Given the description of an element on the screen output the (x, y) to click on. 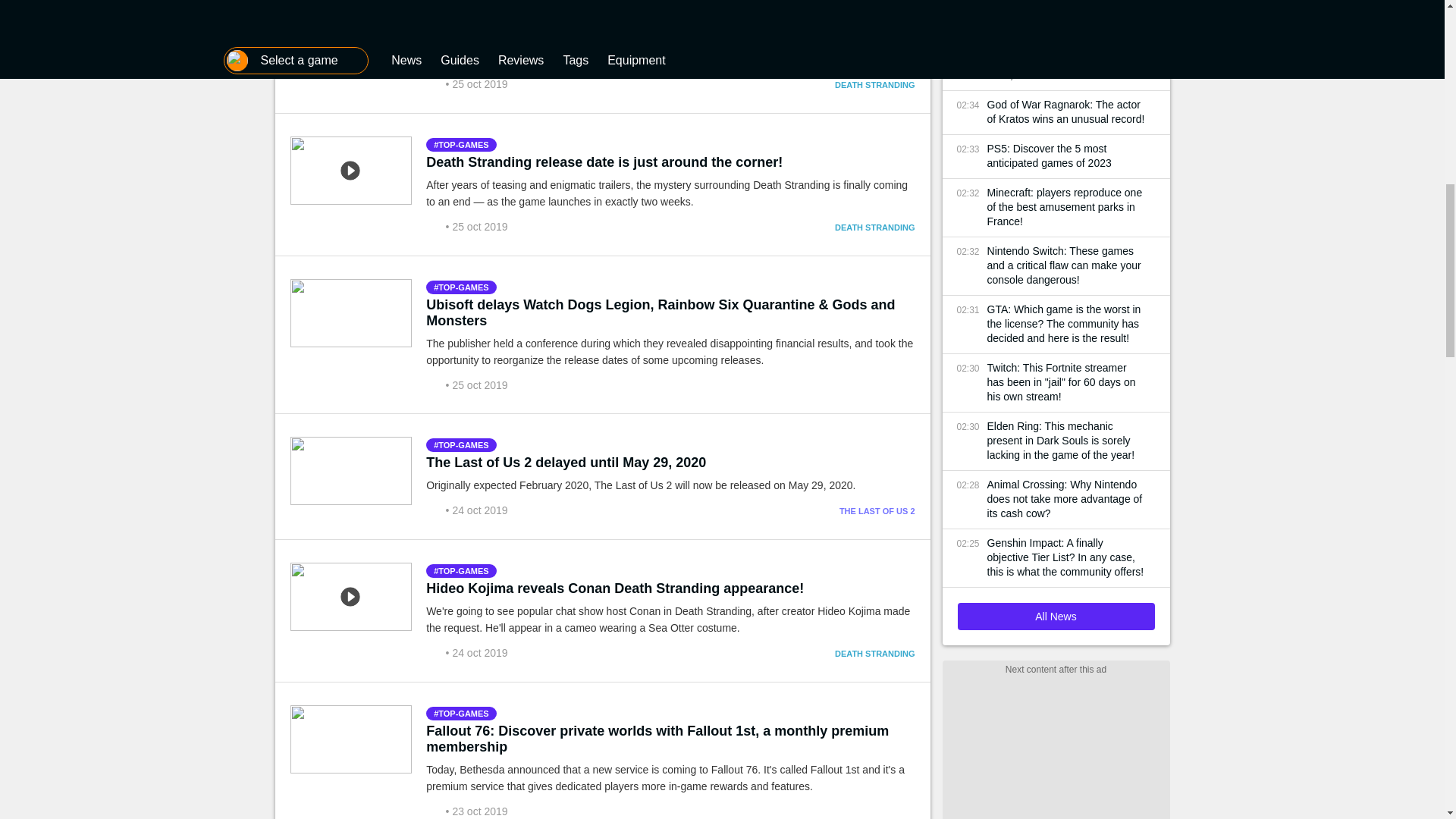
Death Stranding release date is just around the corner! (604, 161)
Death Stranding pre-order bonuses and special editions (608, 19)
THE LAST OF US 2 (877, 510)
The Last of Us 2 delayed until May 29, 2020 (566, 462)
Hideo Kojima reveals Conan Death Stranding appearance! (614, 588)
